Given the description of an element on the screen output the (x, y) to click on. 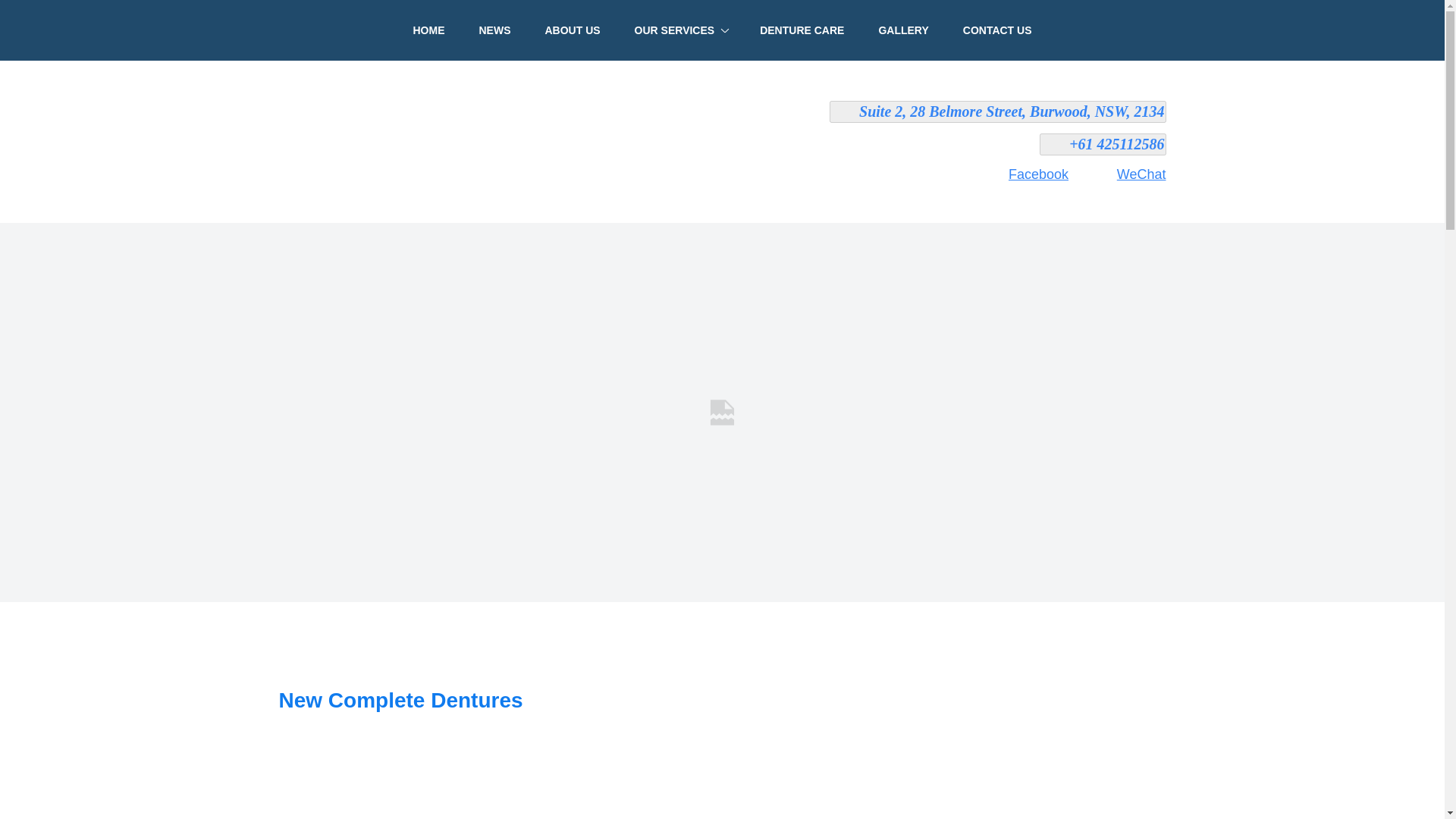
HOME (428, 29)
Suite 2, 28 Belmore Street, Burwood, NSW, 2134 (997, 111)
DENTURE CARE (801, 29)
Facebook (1025, 174)
WeChat (1128, 174)
CONTACT US (997, 29)
ABOUT US (571, 29)
GALLERY (903, 29)
NEWS (494, 29)
OUR SERVICES (680, 29)
